Given the description of an element on the screen output the (x, y) to click on. 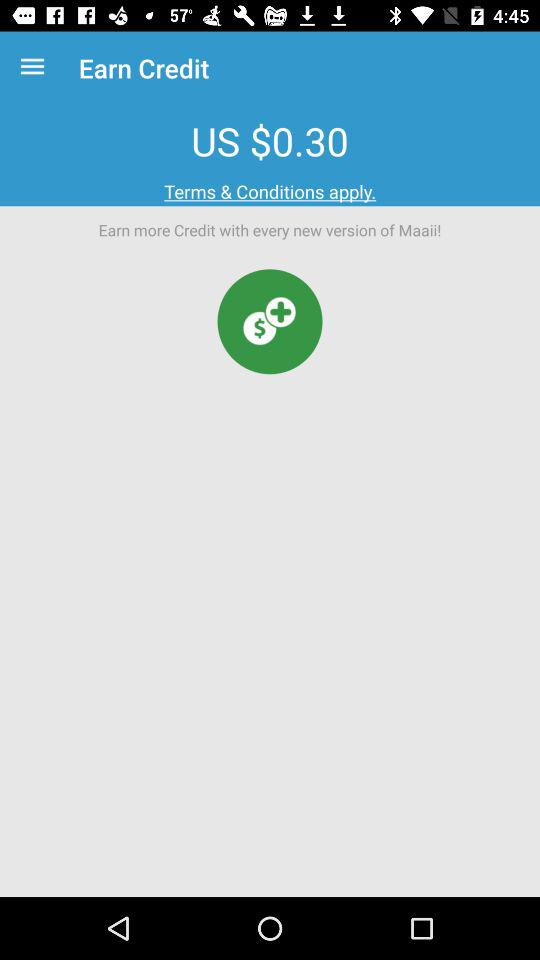
move a credit to your account (269, 321)
